Given the description of an element on the screen output the (x, y) to click on. 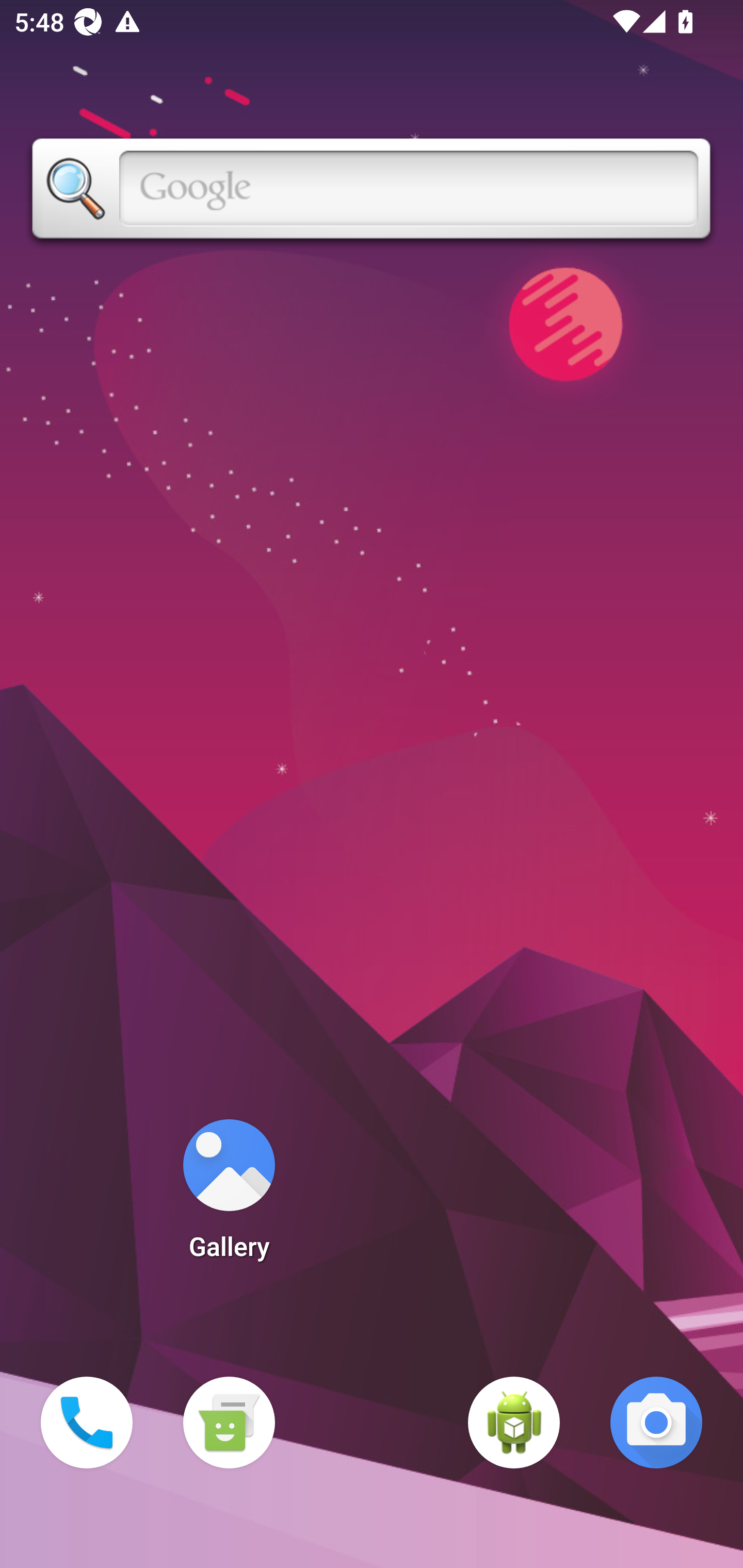
Gallery (228, 1195)
Phone (86, 1422)
Messaging (228, 1422)
WebView Browser Tester (513, 1422)
Camera (656, 1422)
